Given the description of an element on the screen output the (x, y) to click on. 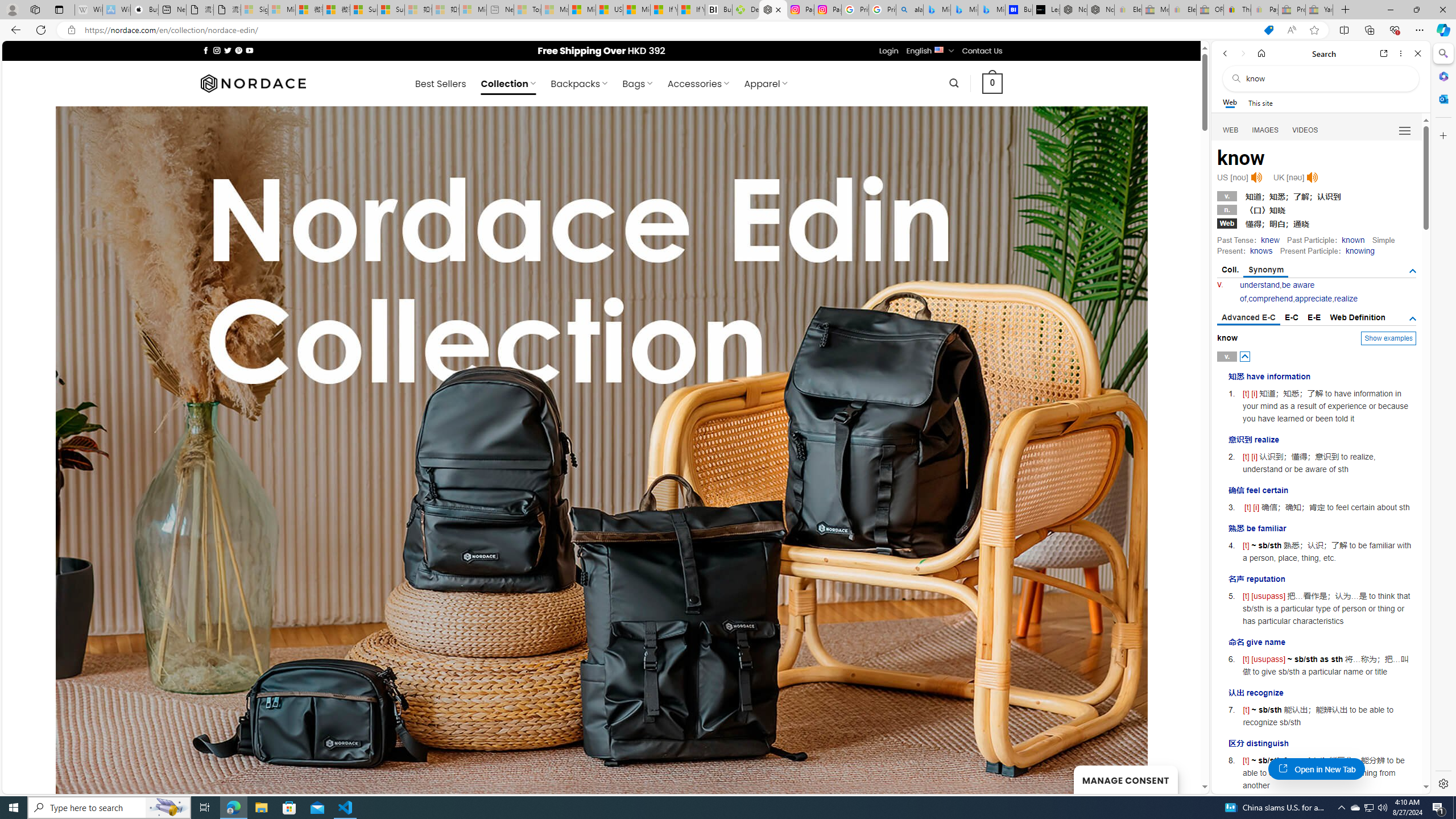
Login (888, 50)
Login (888, 50)
